Given the description of an element on the screen output the (x, y) to click on. 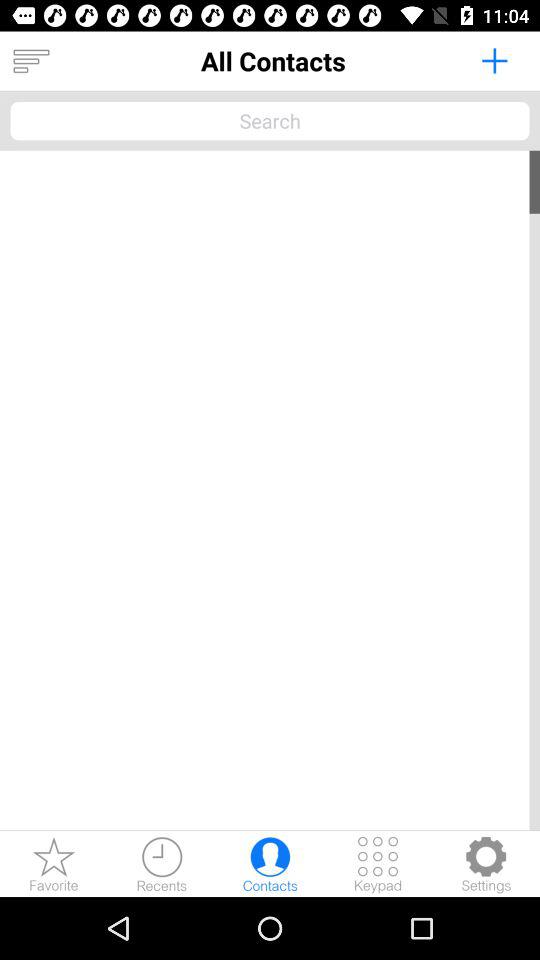
adjust the settings (485, 864)
